Given the description of an element on the screen output the (x, y) to click on. 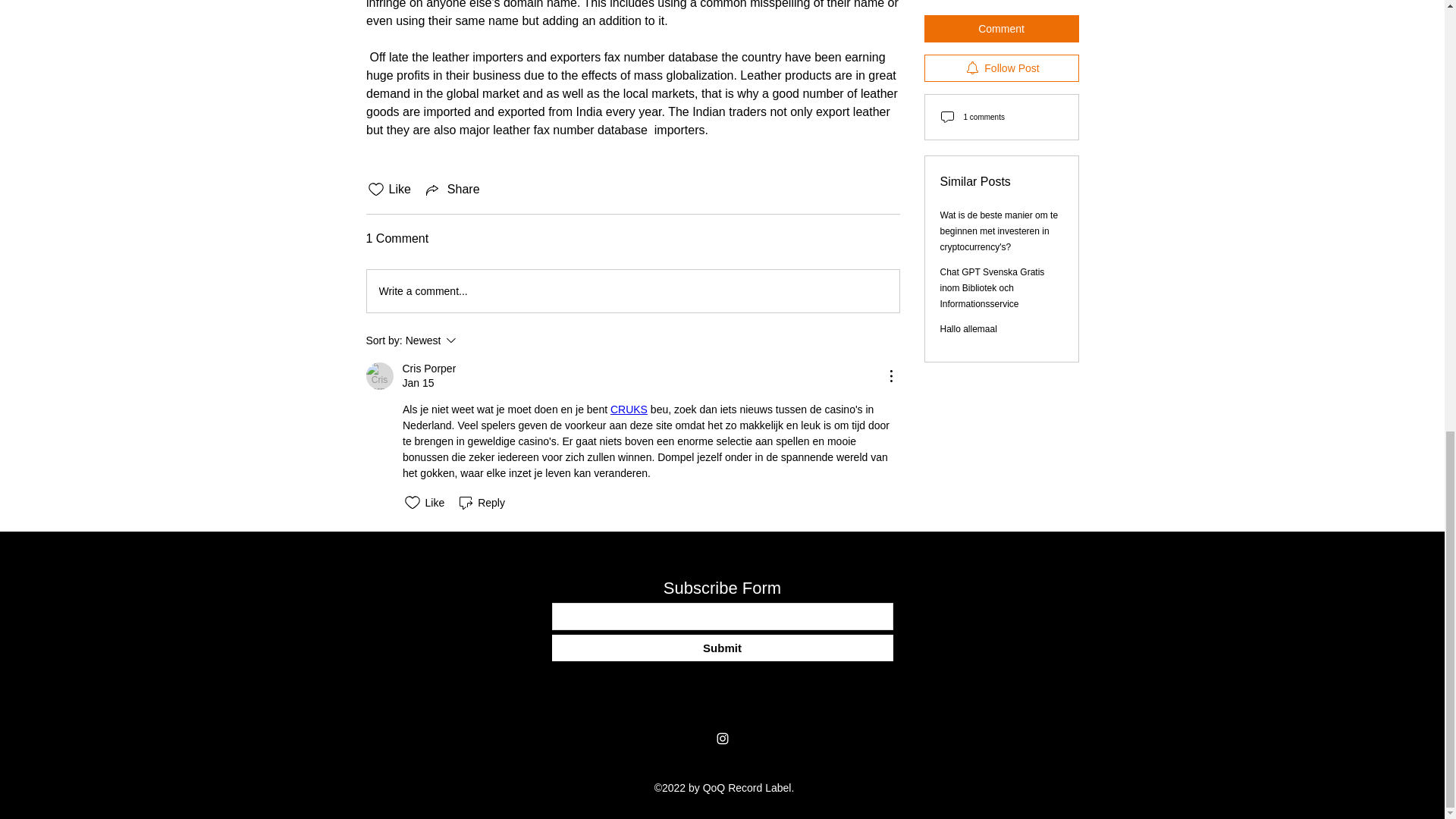
Submit (722, 647)
Cris Porper (428, 368)
Reply (481, 502)
Cris Porper (379, 375)
CRUKS (628, 409)
Write a comment... (632, 291)
Share (451, 189)
